Given the description of an element on the screen output the (x, y) to click on. 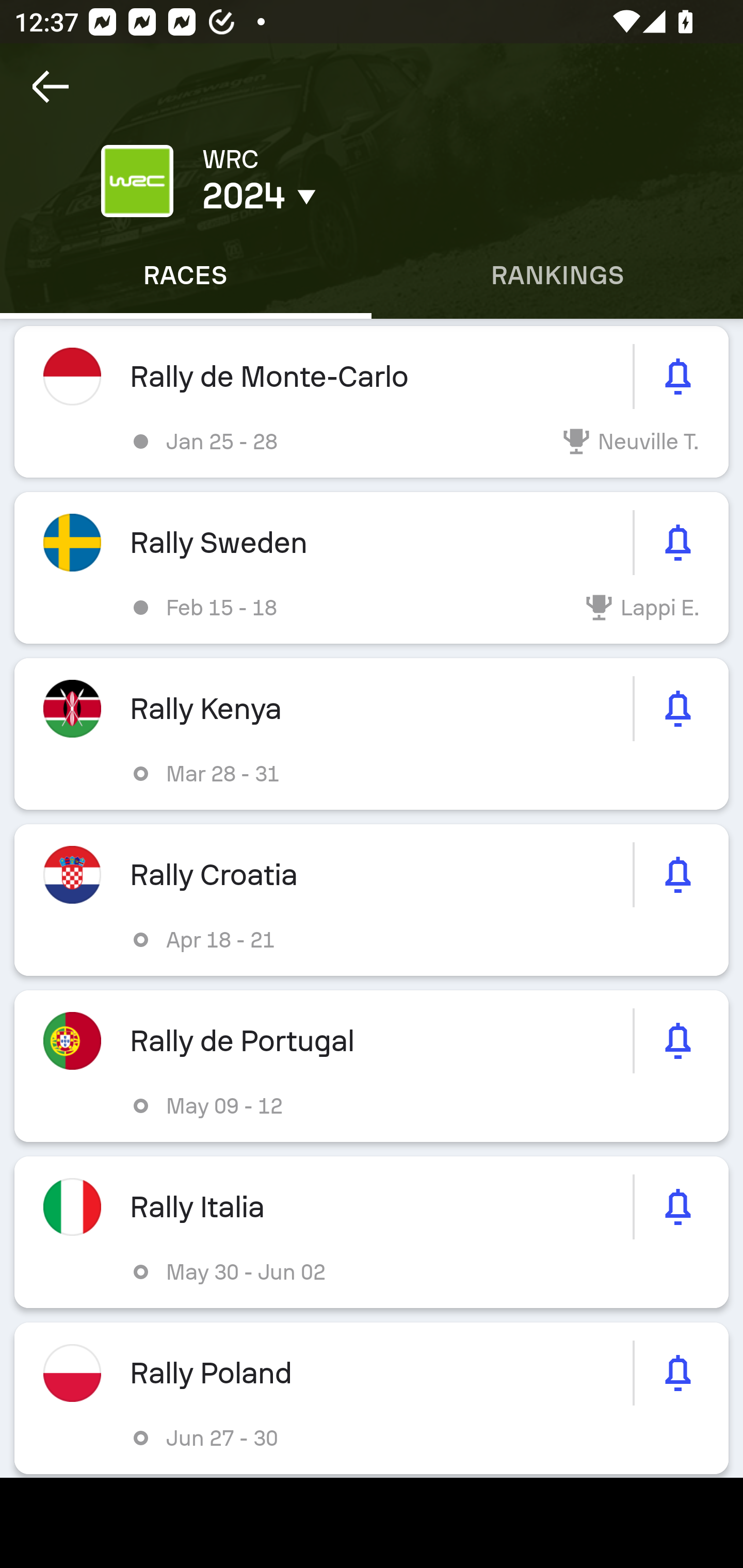
Navigate up (50, 86)
2024 (350, 195)
Rankings RANKINGS (557, 275)
Rally Sweden picture Feb 15 - 18 Lappi E. (371, 568)
Rally Kenya picture Mar 28 - 31 (371, 733)
Rally Croatia picture Apr 18 - 21 (371, 899)
Rally de Portugal picture May 09 - 12 (371, 1065)
Rally Italia picture May 30 - Jun 02 (371, 1232)
Rally Poland picture Jun 27 - 30 (371, 1397)
